Given the description of an element on the screen output the (x, y) to click on. 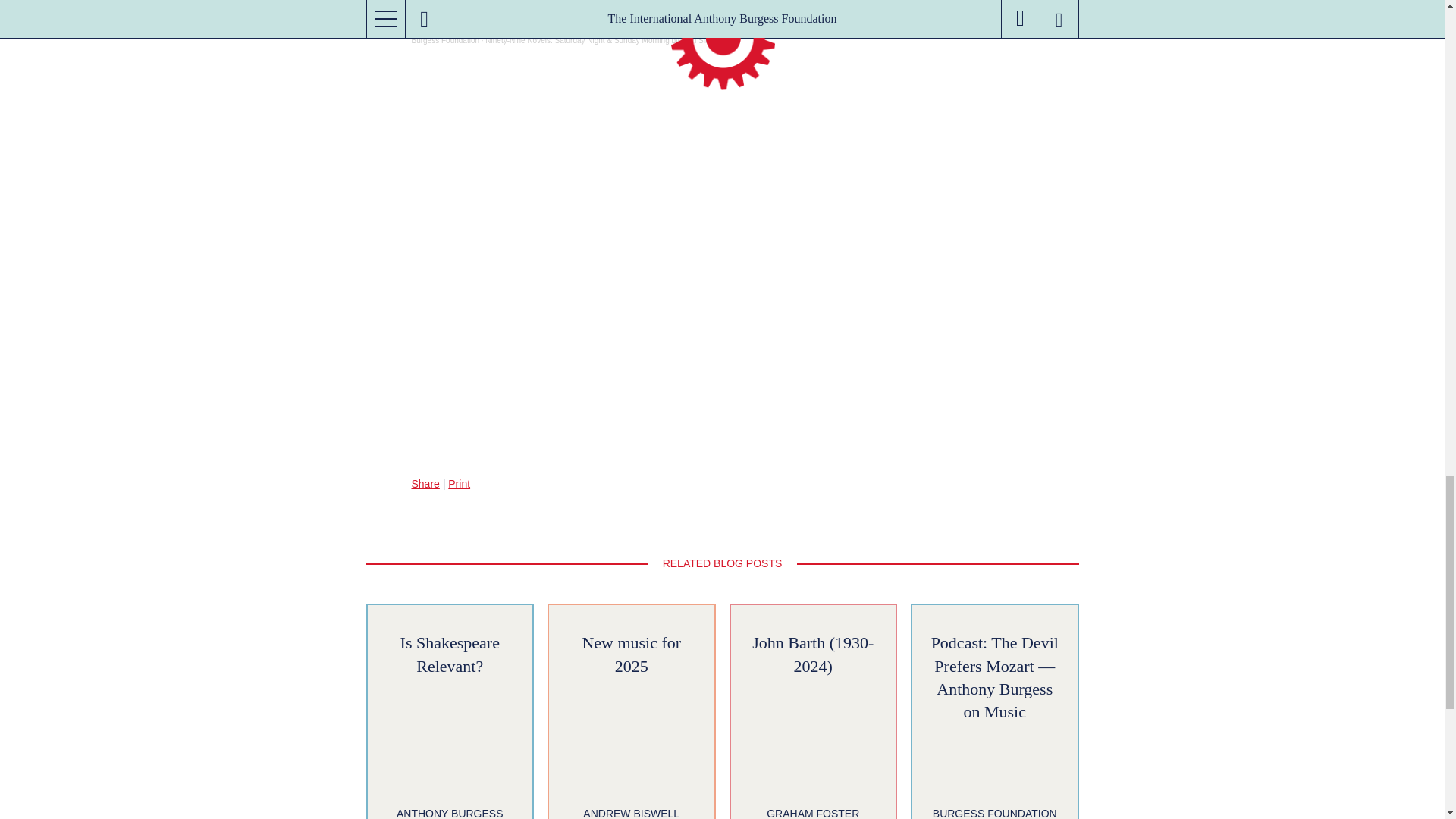
Burgess Foundation (444, 40)
